Given the description of an element on the screen output the (x, y) to click on. 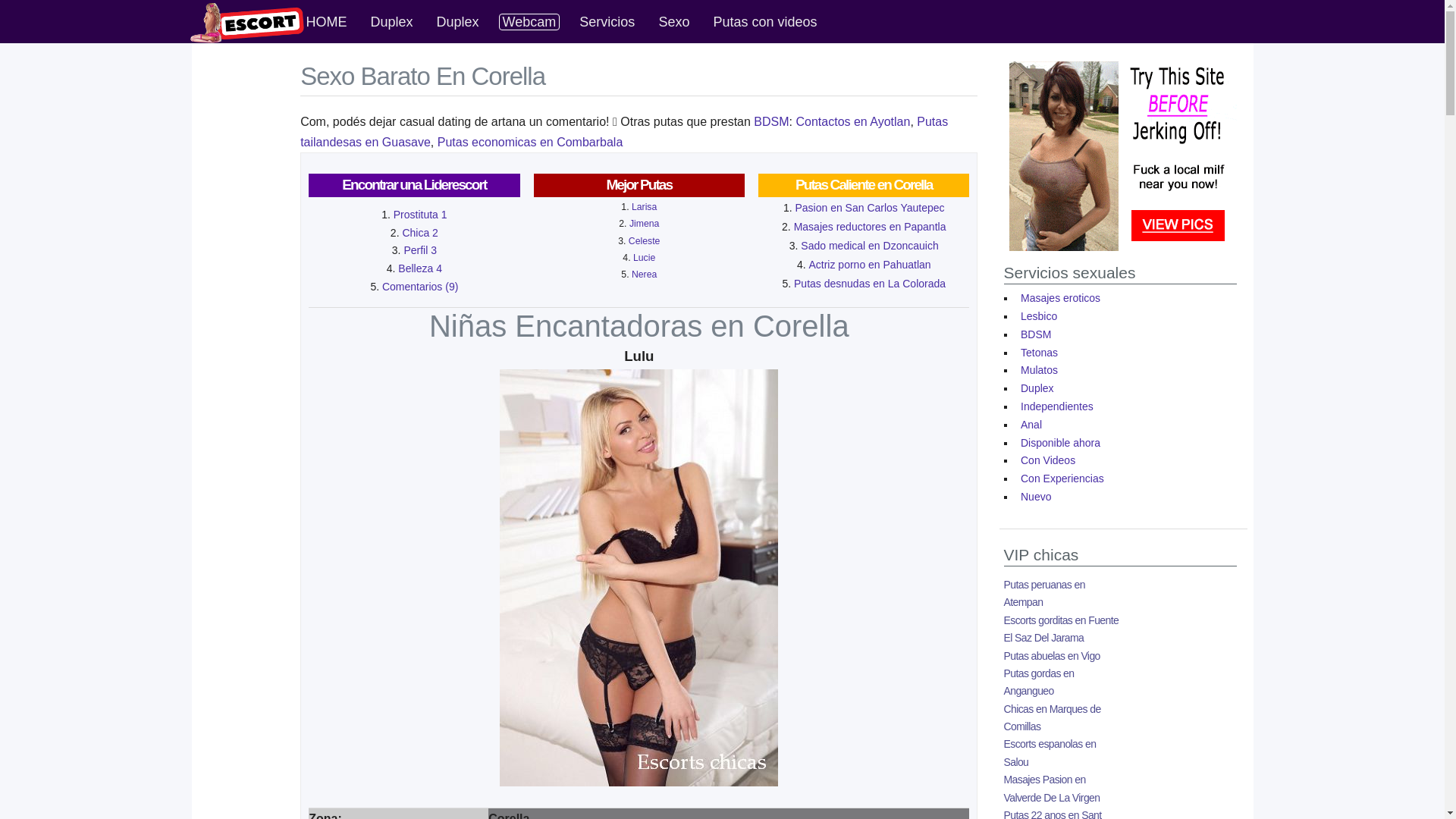
Masajes Pasion en Valverde De La Virgen Element type: text (1052, 788)
Contactos en Ayotlan Element type: text (852, 121)
Putas desnudas en La Colorada Element type: text (869, 283)
Comentarios (9) Element type: text (420, 286)
HOME Element type: text (326, 21)
Chicas en Marques de Comillas Element type: text (1052, 717)
Masajes reductores en Papantla Element type: text (869, 226)
Putas peruanas en Atempan Element type: text (1044, 593)
Larisa Element type: text (643, 206)
Escorts espanolas en Salou Element type: text (1050, 752)
Prostituta 1 Element type: text (420, 214)
Pasion en San Carlos Yautepec Element type: text (869, 207)
Webcam Element type: text (529, 21)
Escorts gorditas en Fuente El Saz Del Jarama Element type: text (1061, 628)
Disponible ahora Element type: text (1059, 442)
Jimena Element type: text (644, 223)
Con Experiencias Element type: text (1061, 478)
Chica 2 Element type: text (419, 232)
Sado medical en Dzoncauich Element type: text (869, 245)
Tetonas Element type: text (1038, 352)
Servicios Element type: text (606, 21)
Perfil 3 Element type: text (419, 250)
Putas con videos Element type: text (764, 21)
Putas economicas en Combarbala Element type: text (530, 141)
Putas tailandesas en Guasave Element type: text (623, 131)
Actriz porno en Pahuatlan Element type: text (869, 264)
Nuevo Element type: text (1035, 496)
Lesbico Element type: text (1038, 315)
Belleza 4 Element type: text (420, 268)
BDSM Element type: text (770, 121)
Putas gordas en Angangueo Element type: text (1039, 681)
Con Videos Element type: text (1047, 459)
Anal Element type: text (1030, 424)
Duplex Element type: text (1036, 387)
BDSM Element type: text (1035, 334)
Celeste Element type: text (644, 240)
Putas abuelas en Vigo Element type: text (1052, 655)
Lucie Element type: text (644, 257)
Masajes eroticos Element type: text (1059, 297)
Independientes Element type: text (1056, 406)
Duplex Element type: text (457, 21)
Sexo Element type: text (673, 21)
Nerea Element type: text (643, 274)
Duplex Element type: text (391, 21)
Mulatos Element type: text (1038, 369)
